Given the description of an element on the screen output the (x, y) to click on. 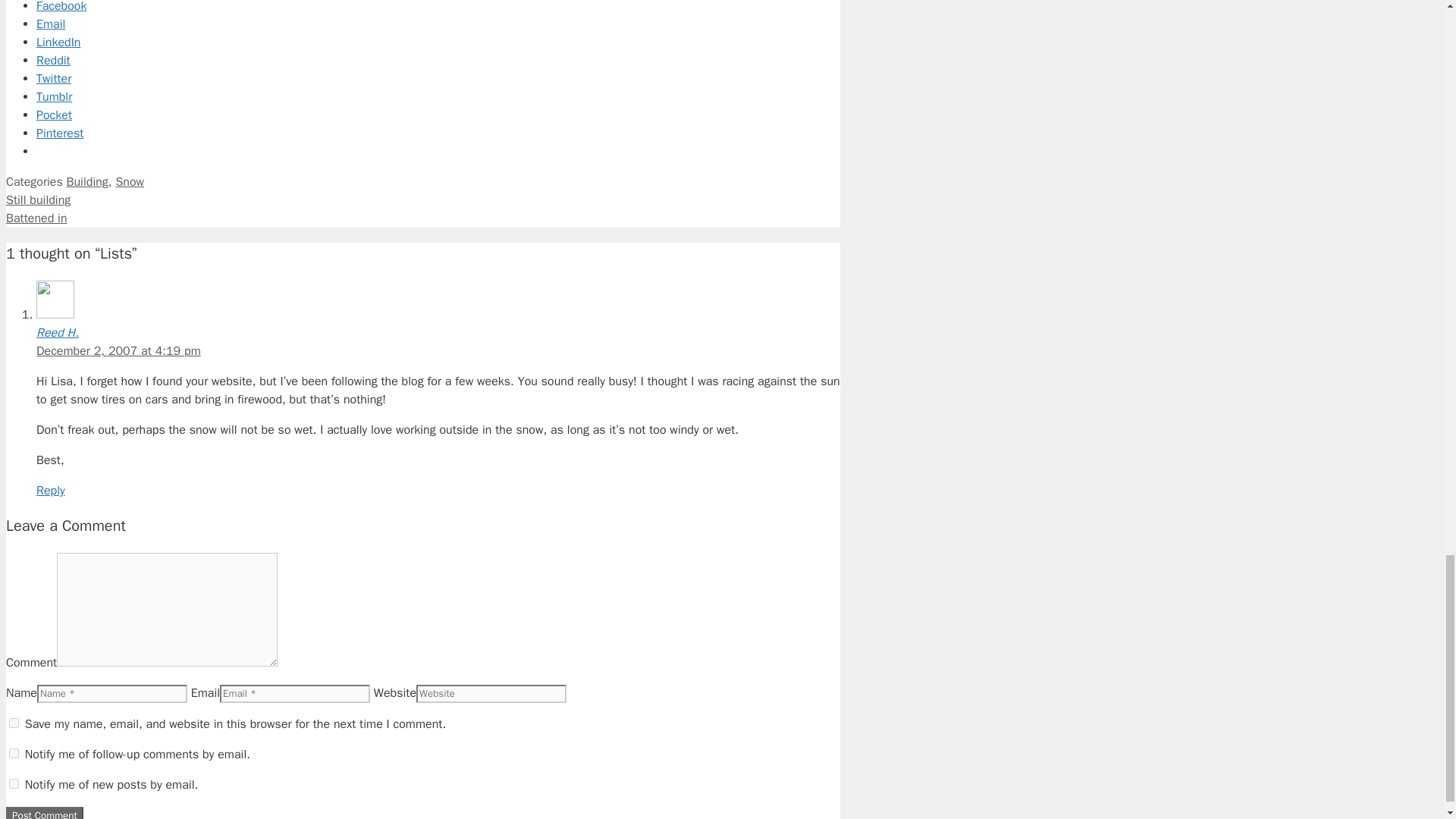
Click to share on Facebook (60, 6)
Click to share on Pocket (53, 114)
Click to share on LinkedIn (58, 42)
yes (13, 723)
Click to email a link to a friend (50, 23)
Click to share on Reddit (52, 60)
Click to share on Pinterest (59, 133)
Click to share on Twitter (53, 78)
subscribe (13, 753)
subscribe (13, 783)
Click to share on Tumblr (53, 96)
